Given the description of an element on the screen output the (x, y) to click on. 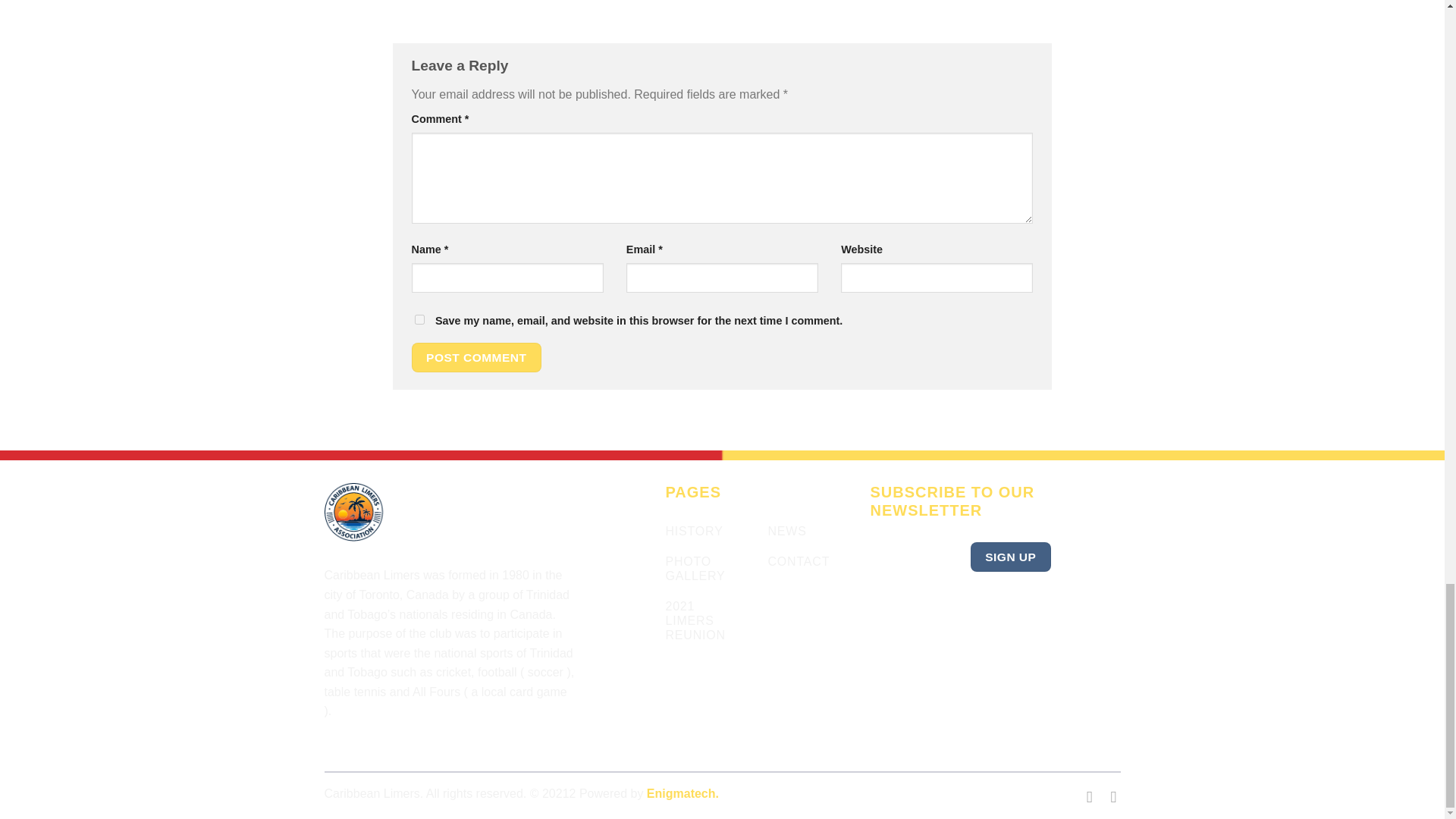
Post Comment (475, 357)
Sign Up (1011, 556)
yes (418, 319)
Post Comment (475, 357)
